Given the description of an element on the screen output the (x, y) to click on. 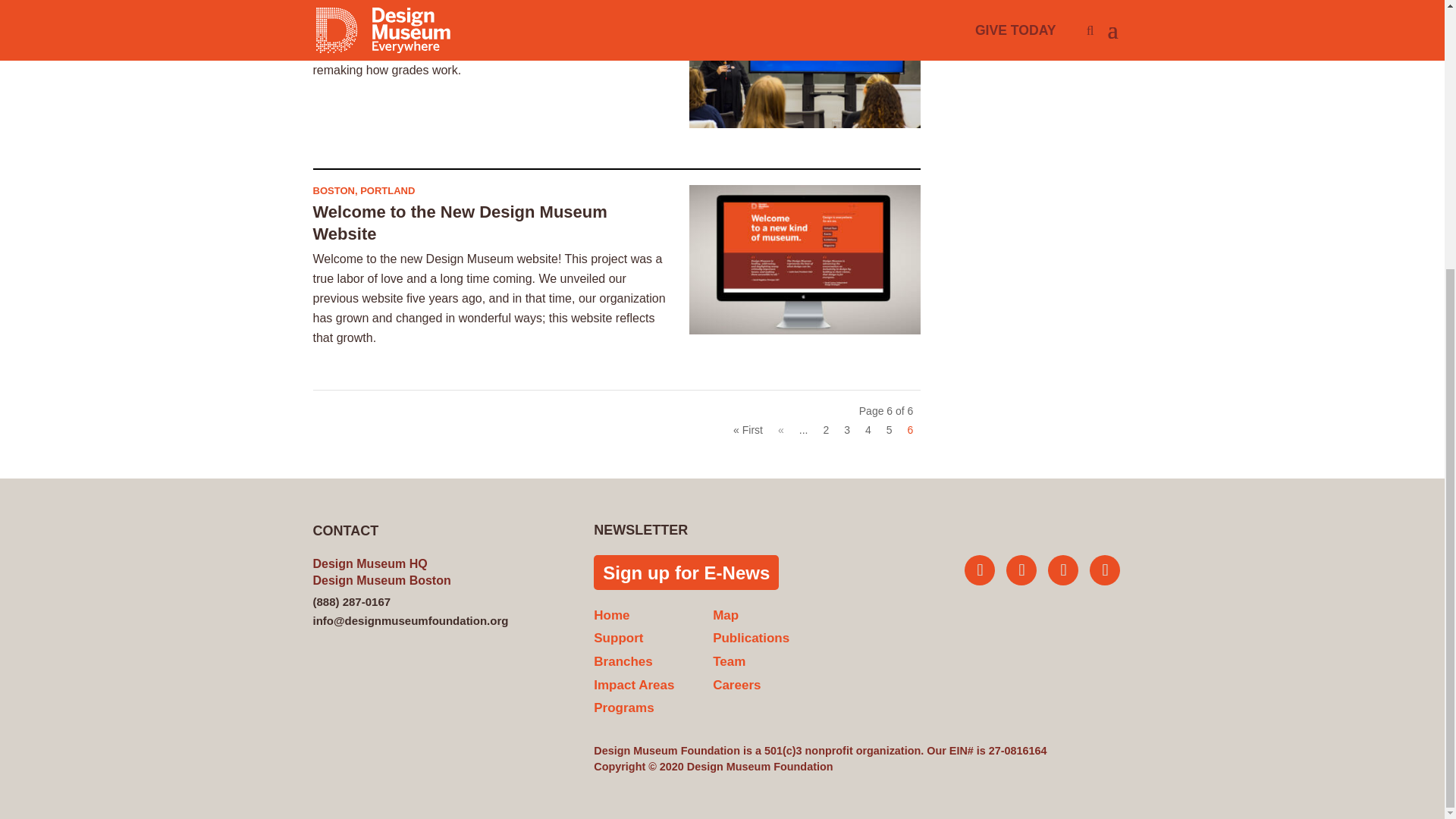
Page 5 (889, 429)
Welcome to the New Design Museum Website (460, 222)
Remaking the Grade Recap (421, 7)
Follow on Instagram (1021, 570)
Page 4 (868, 429)
2 (825, 429)
4 (868, 429)
BOSTON (333, 190)
PORTLAND (386, 190)
Our second city. Named by a coin toss. City of Roses. PDX. (386, 190)
Sign up for E-News (686, 572)
3 (846, 429)
Page 3 (846, 429)
5 (889, 429)
